Given the description of an element on the screen output the (x, y) to click on. 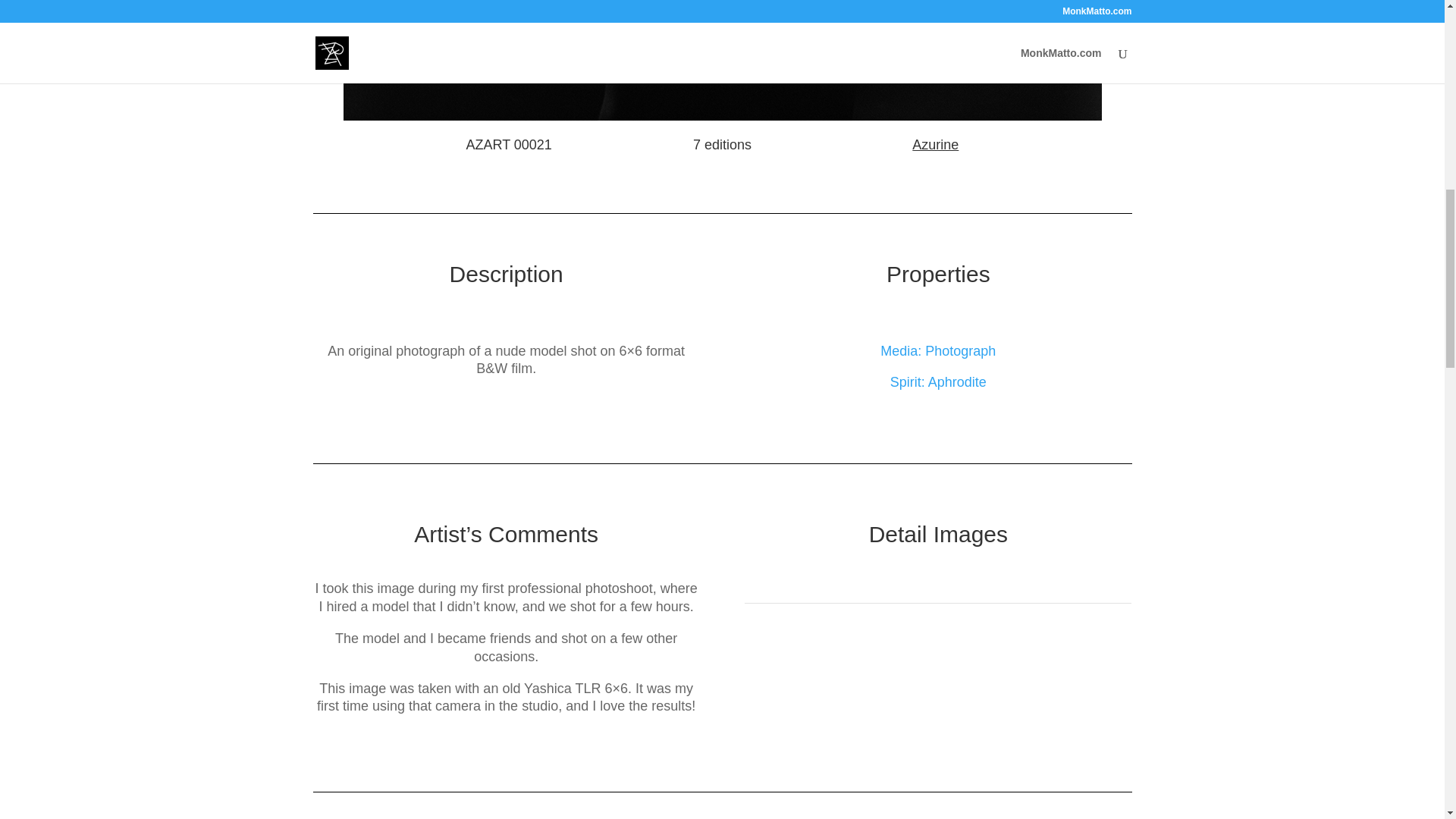
RimLitNude (721, 60)
Media: Photograph (937, 350)
Spirit: Aphrodite (938, 381)
Azurine (935, 144)
